Given the description of an element on the screen output the (x, y) to click on. 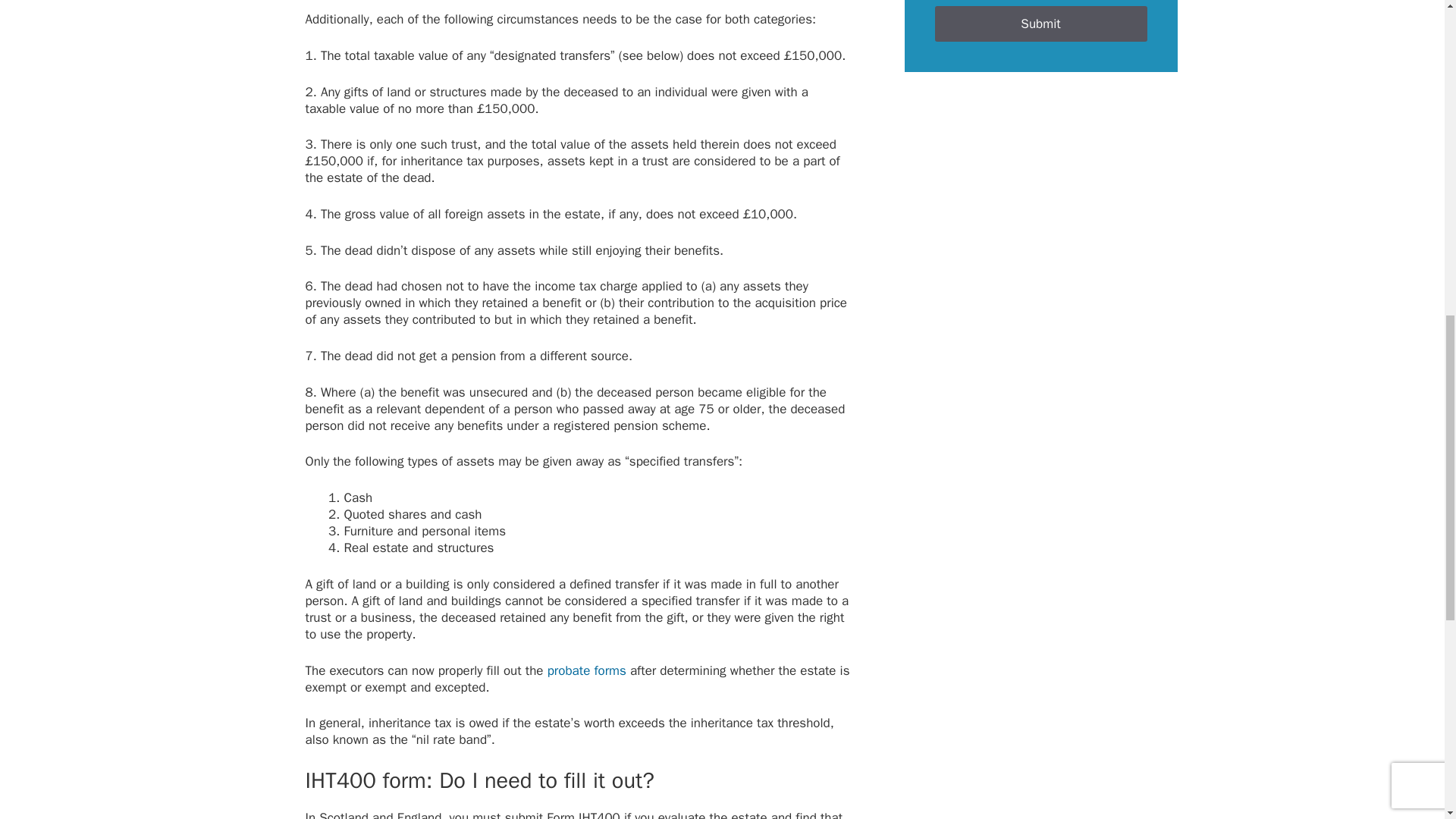
Submit (1040, 23)
probate forms (586, 670)
